Given the description of an element on the screen output the (x, y) to click on. 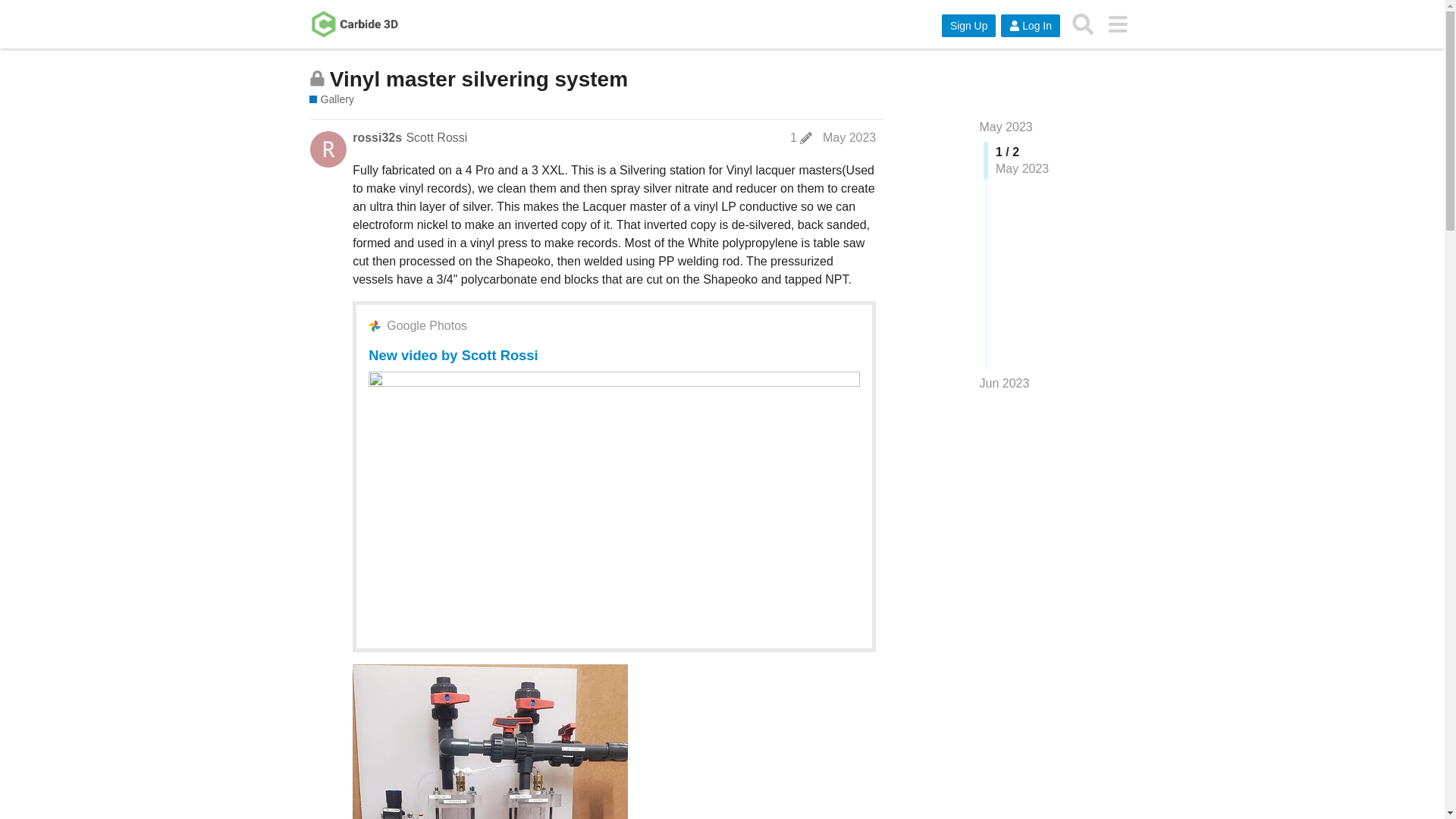
Vinyl master silvering system (478, 78)
Search (1082, 23)
May 2023 (1005, 126)
rossi32s (376, 137)
Google Photos (427, 325)
Post date (849, 137)
Log In (1030, 25)
1 (801, 137)
Sign Up (968, 25)
May 2023 (849, 137)
Jump to the last post (1004, 382)
Jun 2023 (1004, 383)
New video by Scott Rossi (452, 355)
Gallery (330, 99)
Scott Rossi (436, 137)
